Given the description of an element on the screen output the (x, y) to click on. 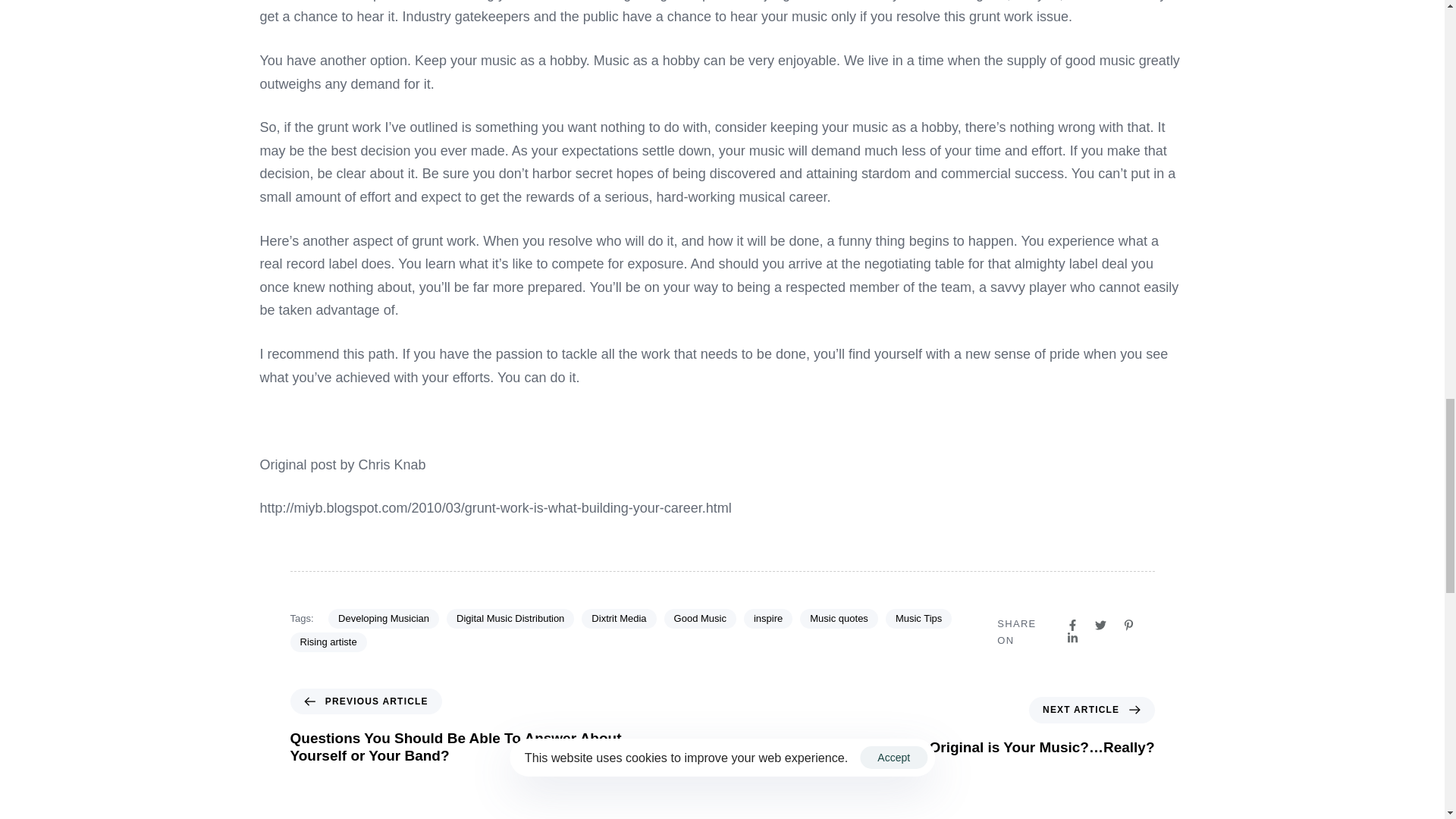
Music Tips (918, 618)
Music quotes (838, 618)
Good Music (699, 618)
inspire (768, 618)
Developing Musician (384, 618)
Rising artiste (327, 641)
Dixtrit Media (618, 618)
Digital Music Distribution (509, 618)
